Given the description of an element on the screen output the (x, y) to click on. 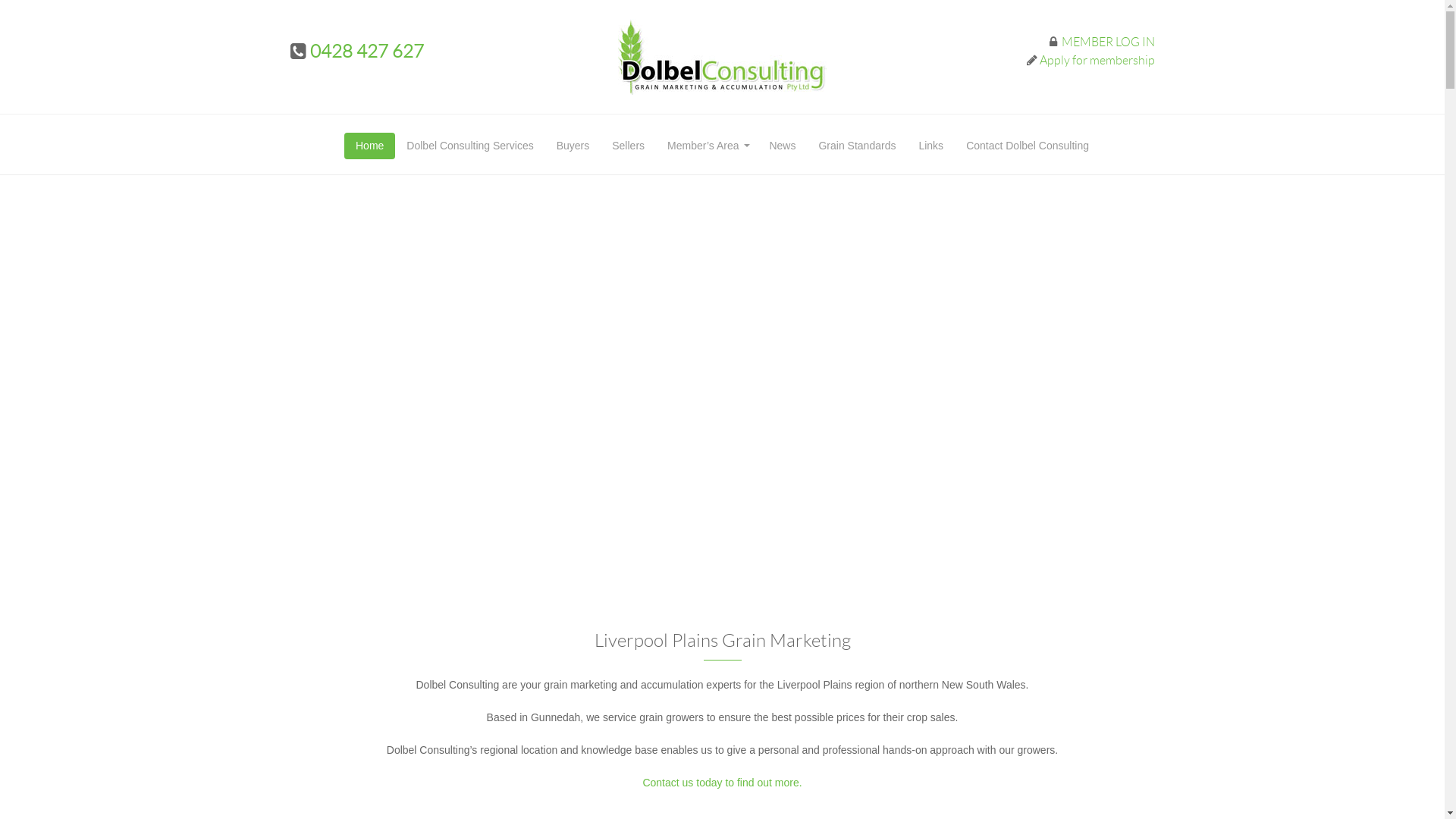
MEMBER LOG IN Element type: text (1107, 40)
Contact us today to find out more. Element type: text (721, 782)
Buyers Element type: text (573, 145)
News Element type: text (781, 145)
Home Element type: text (369, 145)
0428 427 627 Element type: text (364, 51)
Apply for membership Element type: text (1096, 59)
Dolbel Consulting Services Element type: text (469, 145)
Grain Standards Element type: text (856, 145)
Sellers Element type: text (627, 145)
Links Element type: text (930, 145)
Contact Dolbel Consulting Element type: text (1027, 145)
